Given the description of an element on the screen output the (x, y) to click on. 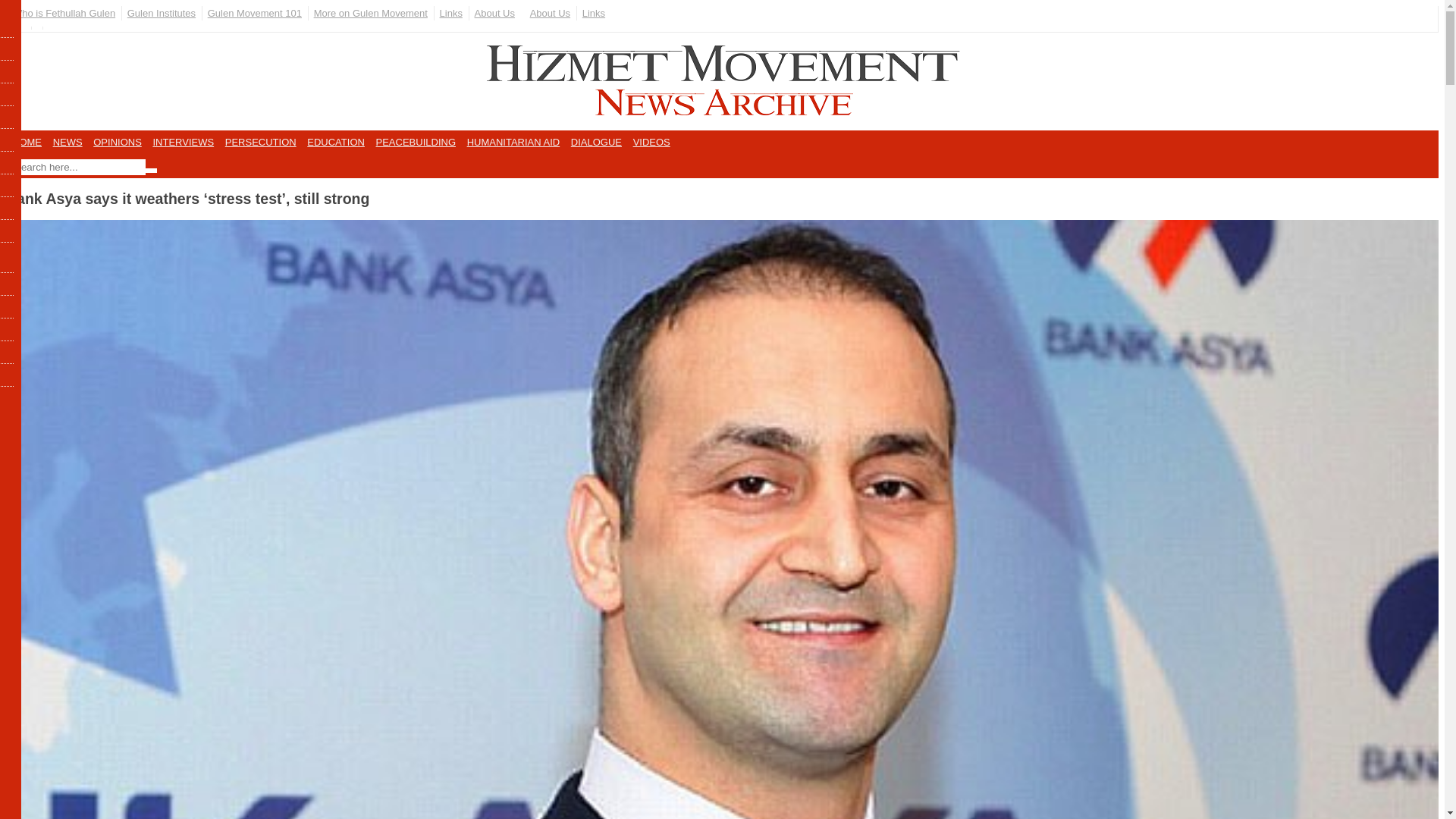
EDUCATION (336, 141)
Gulen Movement (370, 12)
About Us (494, 12)
OPINIONS (117, 141)
More on Gulen Movement (370, 12)
HOME (26, 141)
PERSECUTION (260, 141)
Links (450, 12)
Fethullah Gulen (64, 12)
NEWS (67, 141)
Gulen Movement (255, 12)
Search (150, 170)
PEACEBUILDING (415, 141)
Gulen Institutes (161, 12)
Gulen Institutes (161, 12)
